Given the description of an element on the screen output the (x, y) to click on. 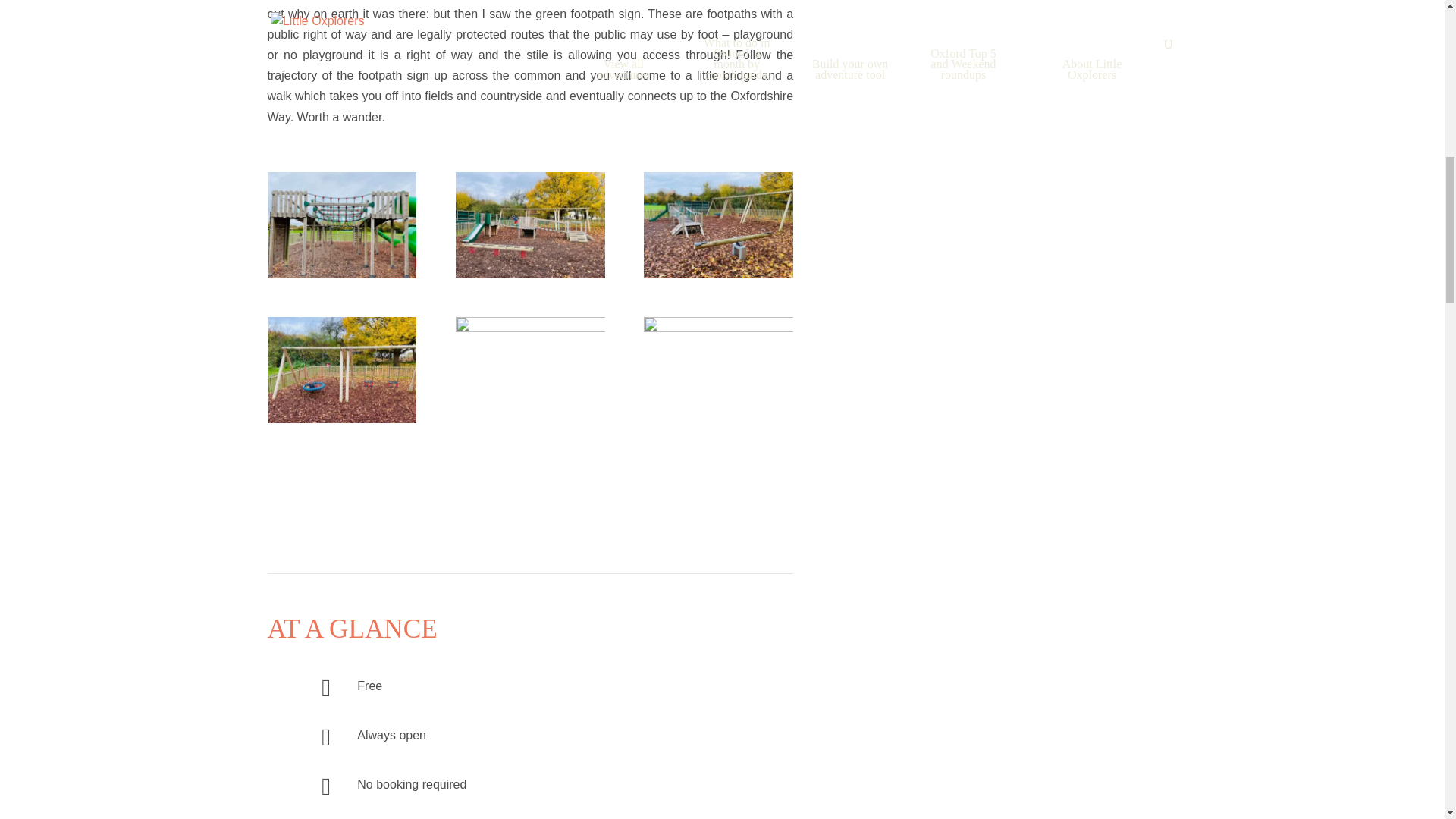
Tetsworth playground younger apparatus (718, 224)
Tetsworth playground view of apparatus (341, 224)
Tetsworth walking path (718, 369)
Tetsworth hamster wheel (530, 369)
Tetsworth playground younger apparatus view (530, 224)
Tetsworth swings (341, 369)
